Given the description of an element on the screen output the (x, y) to click on. 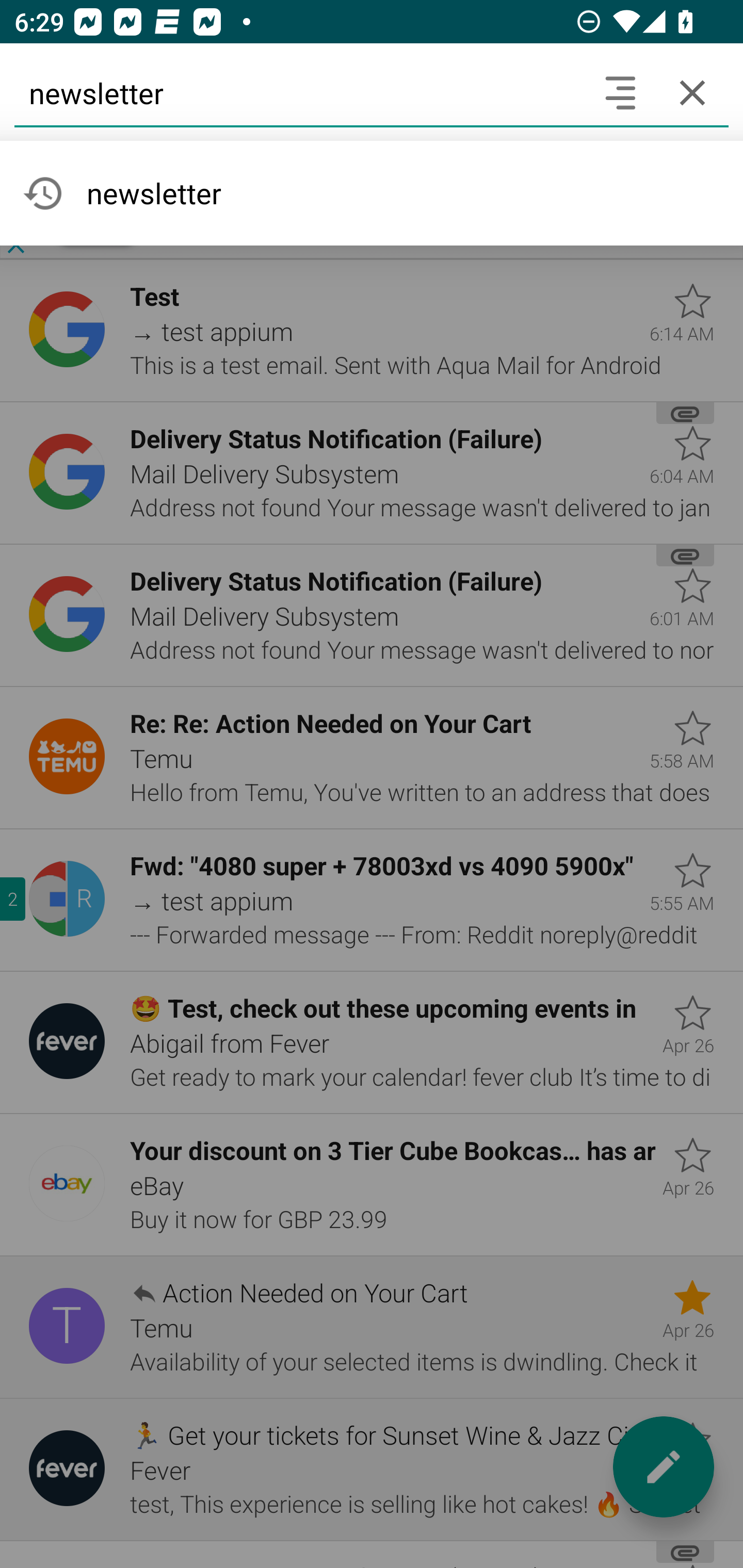
newsletter (298, 92)
Search headers and text (619, 92)
Cancel (692, 92)
